Given the description of an element on the screen output the (x, y) to click on. 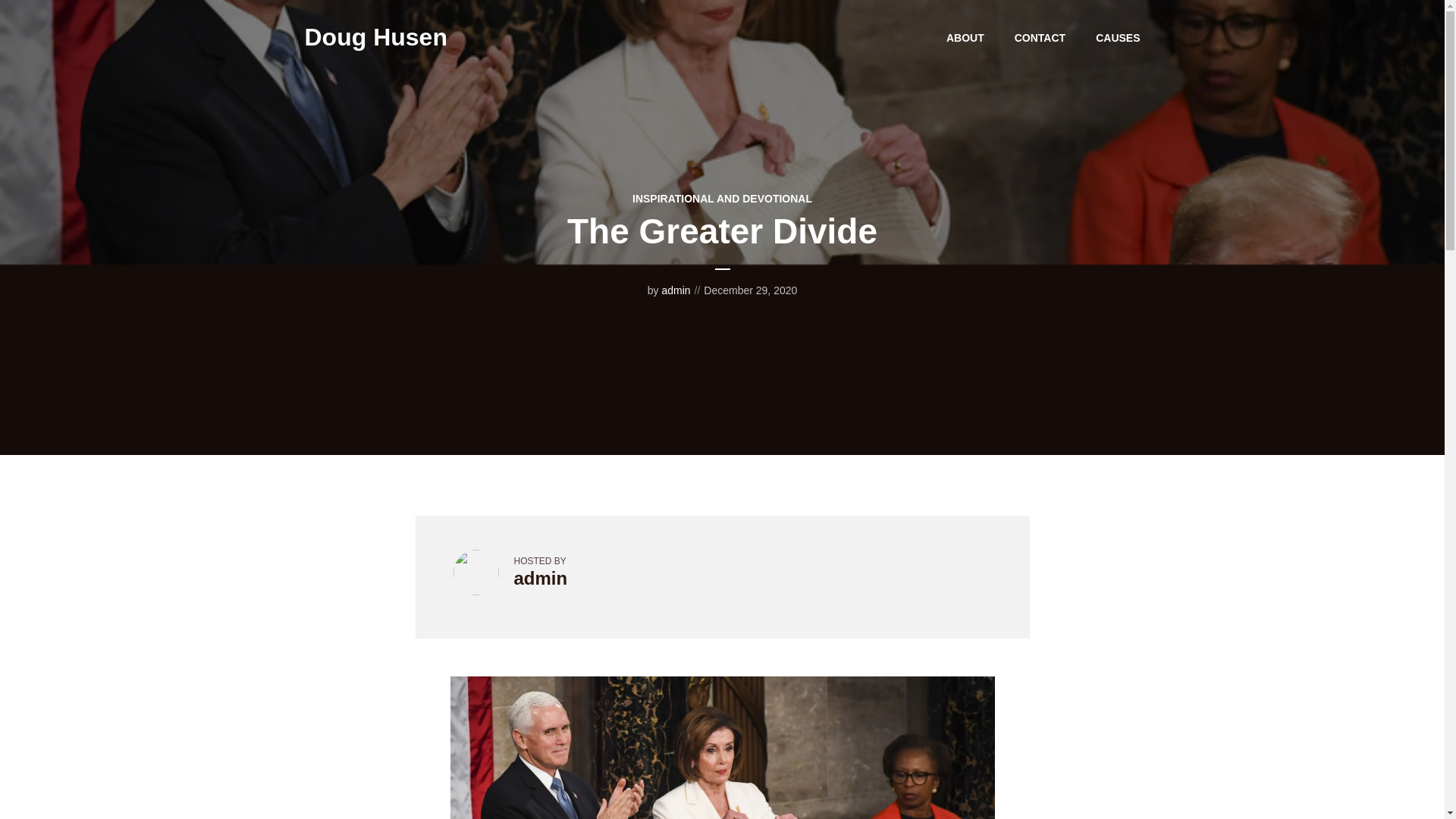
INSPIRATIONAL AND DEVOTIONAL (721, 198)
CAUSES (1118, 37)
admin (675, 290)
admin (540, 578)
Doug Husen (375, 36)
CONTACT (1039, 37)
ABOUT (965, 37)
